Given the description of an element on the screen output the (x, y) to click on. 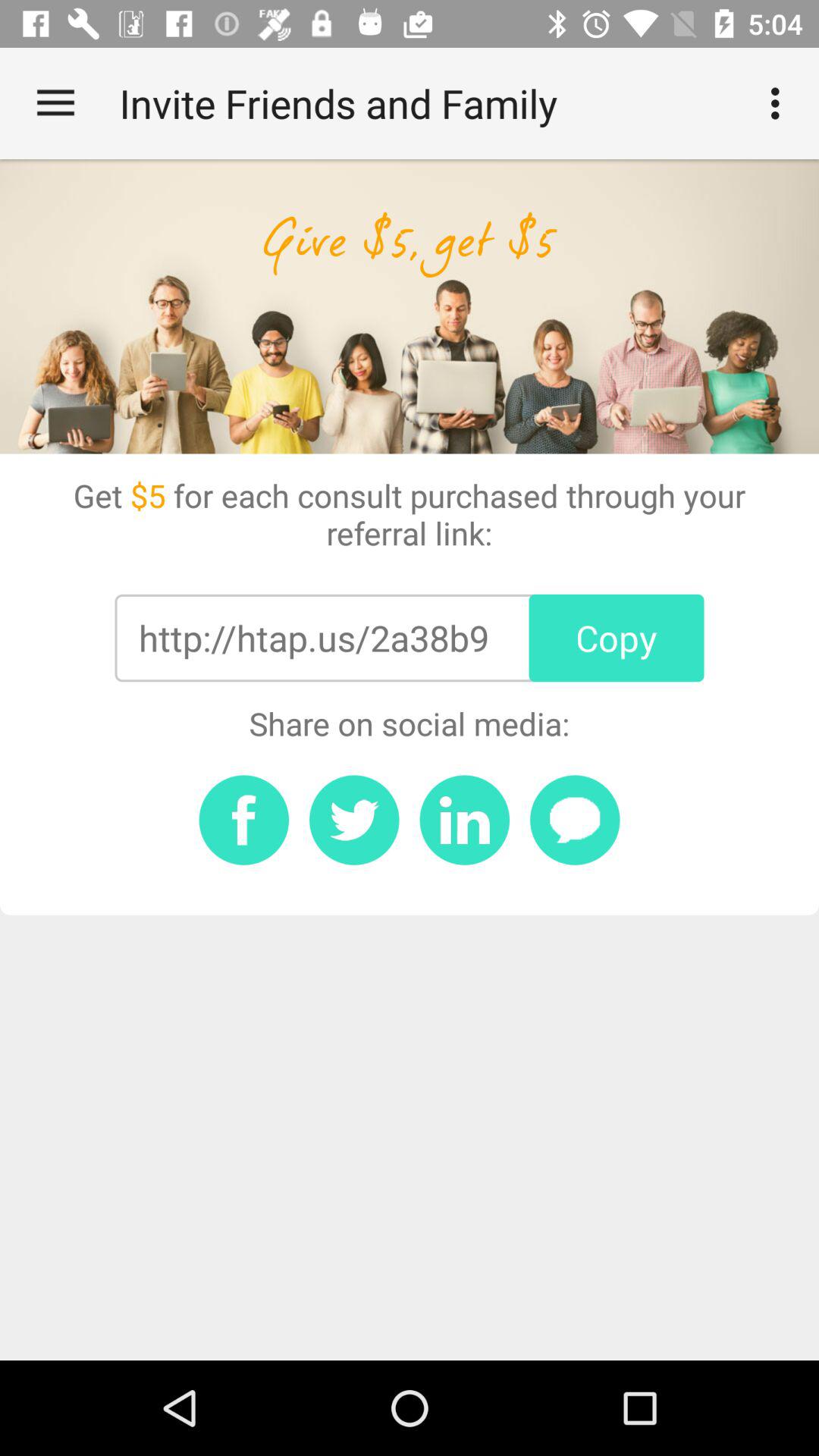
share on facebook (243, 820)
